Given the description of an element on the screen output the (x, y) to click on. 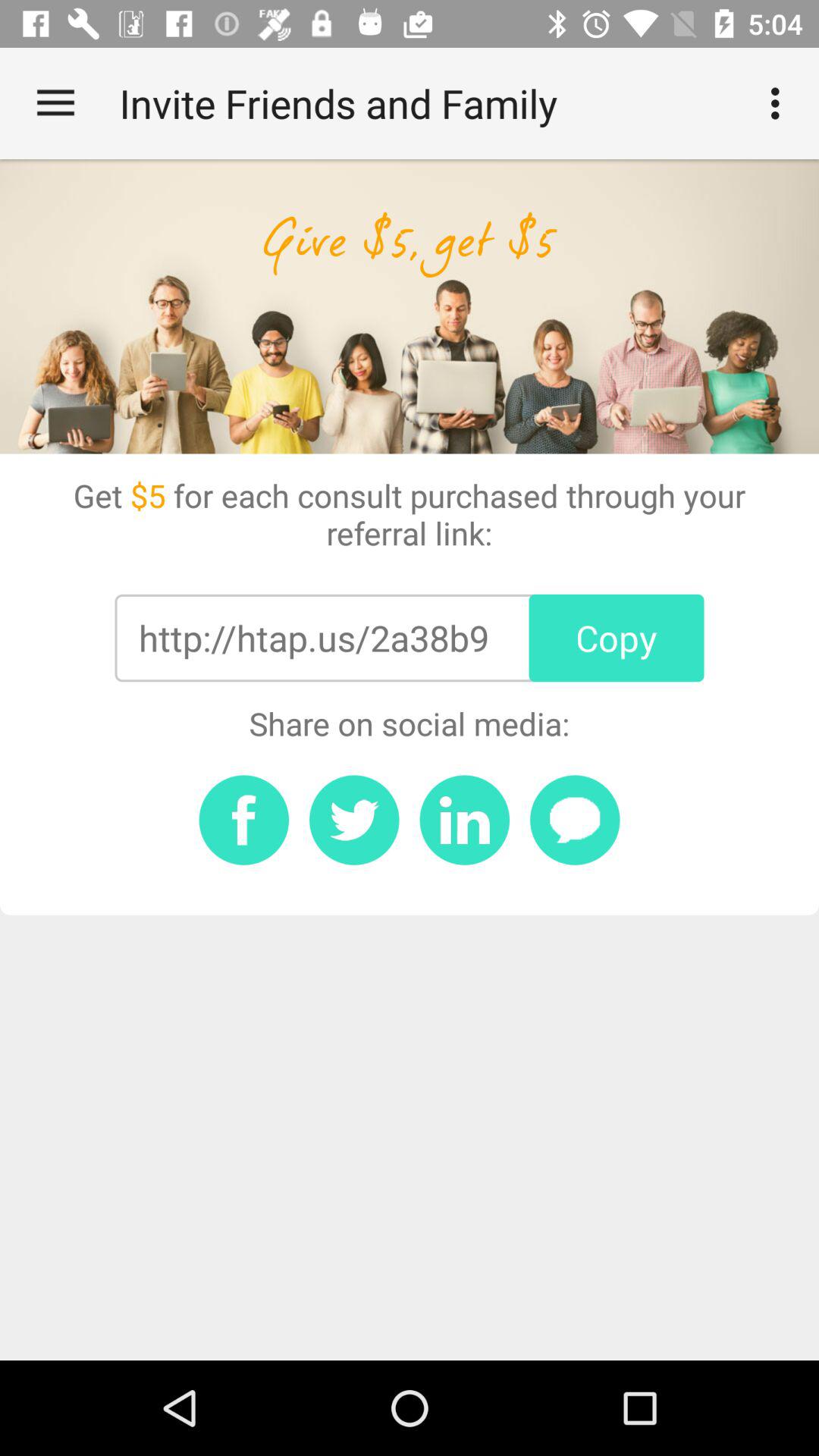
share on facebook (243, 820)
